Given the description of an element on the screen output the (x, y) to click on. 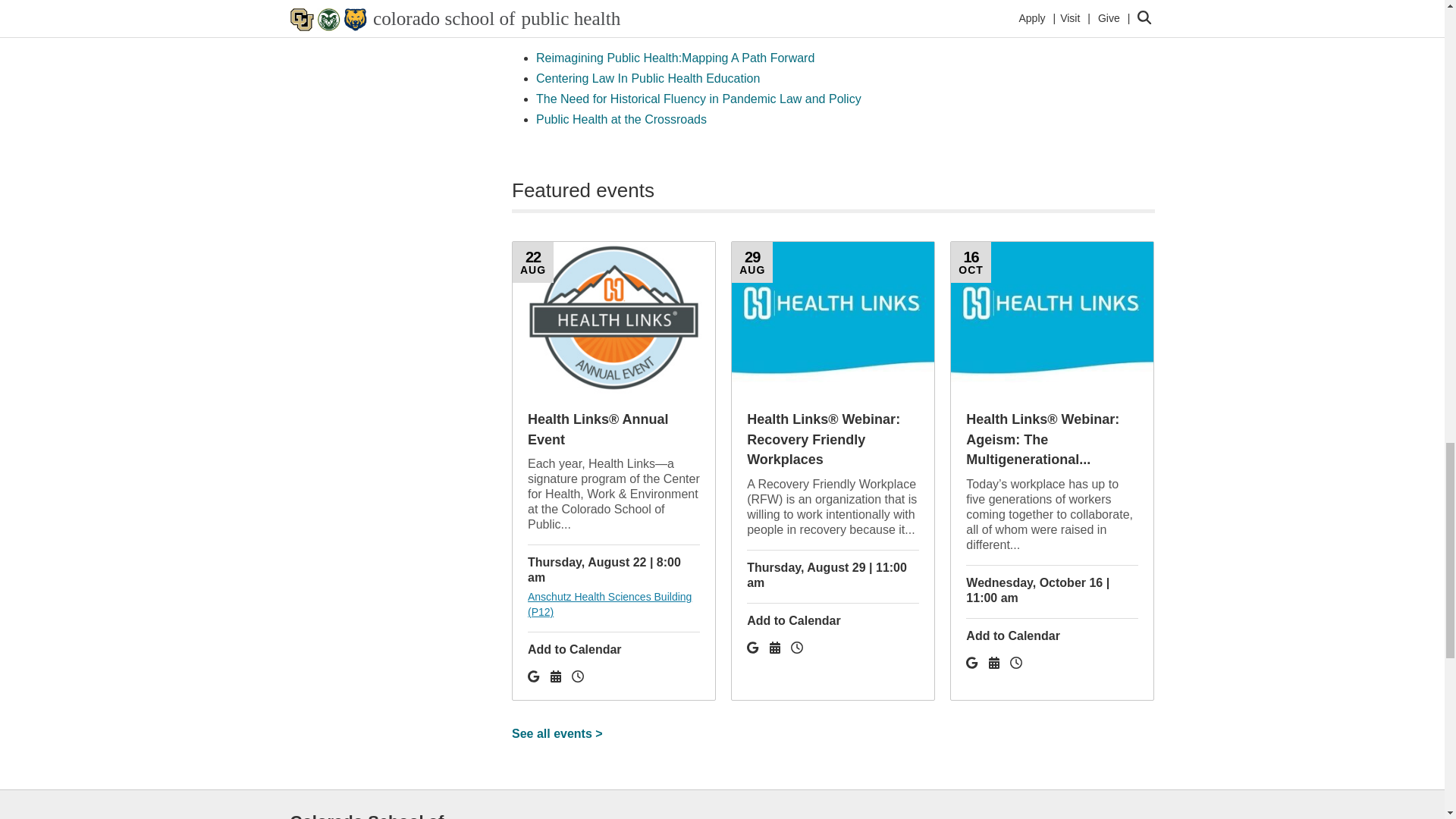
Save to Google Calendar (535, 676)
Save to Outlook (1016, 662)
Save to iCal (995, 662)
Save to iCal (776, 647)
Save to Google Calendar (973, 662)
Save to Outlook (577, 676)
Save to Outlook (796, 647)
Save to iCal (557, 676)
Save to Google Calendar (753, 647)
